Given the description of an element on the screen output the (x, y) to click on. 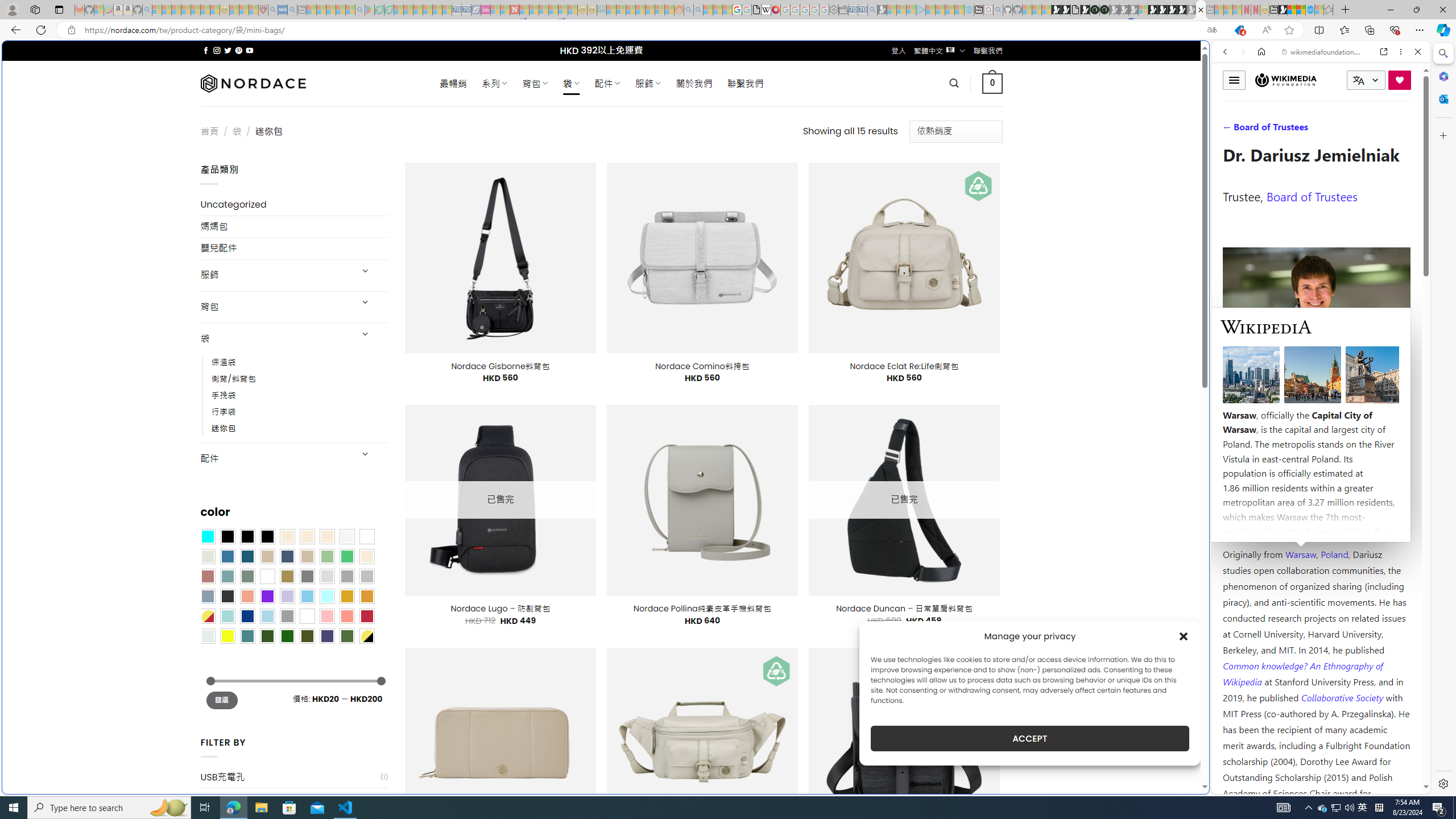
New tab - Sleeping (1210, 9)
Services - Maintenance | Sky Blue Bikes - Sky Blue Bikes (1309, 9)
Toggle menu (1233, 80)
DITOGAMES AG Imprint - Sleeping (601, 9)
14 Common Myths Debunked By Scientific Facts - Sleeping (533, 9)
Kozminski University (1316, 486)
